Given the description of an element on the screen output the (x, y) to click on. 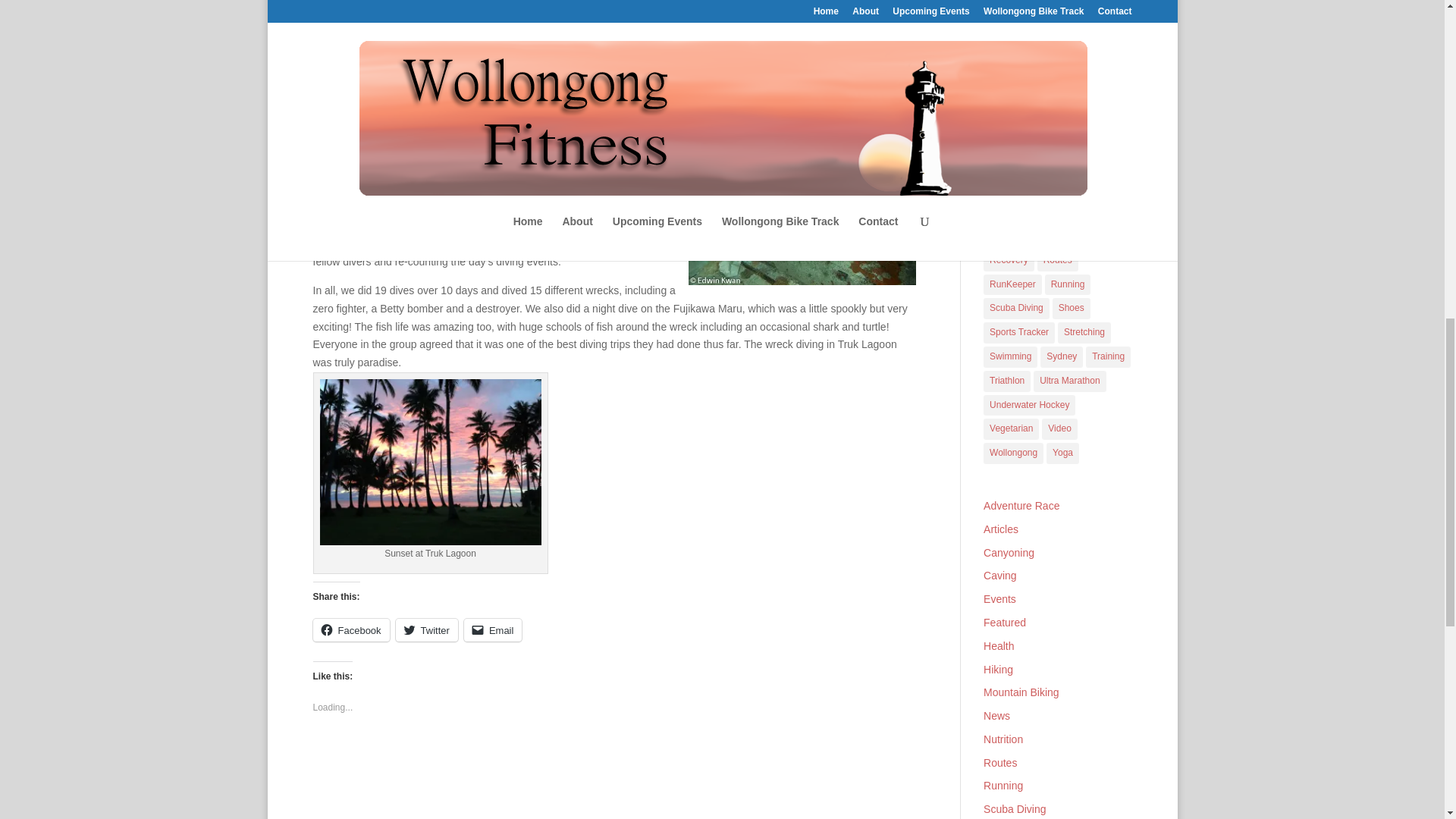
Canyoning (1011, 2)
Facebook (350, 630)
Click to share on Facebook (350, 630)
Click to share on Twitter (427, 630)
Email (493, 630)
Twitter (427, 630)
Click to email a link to a friend (493, 630)
